Given the description of an element on the screen output the (x, y) to click on. 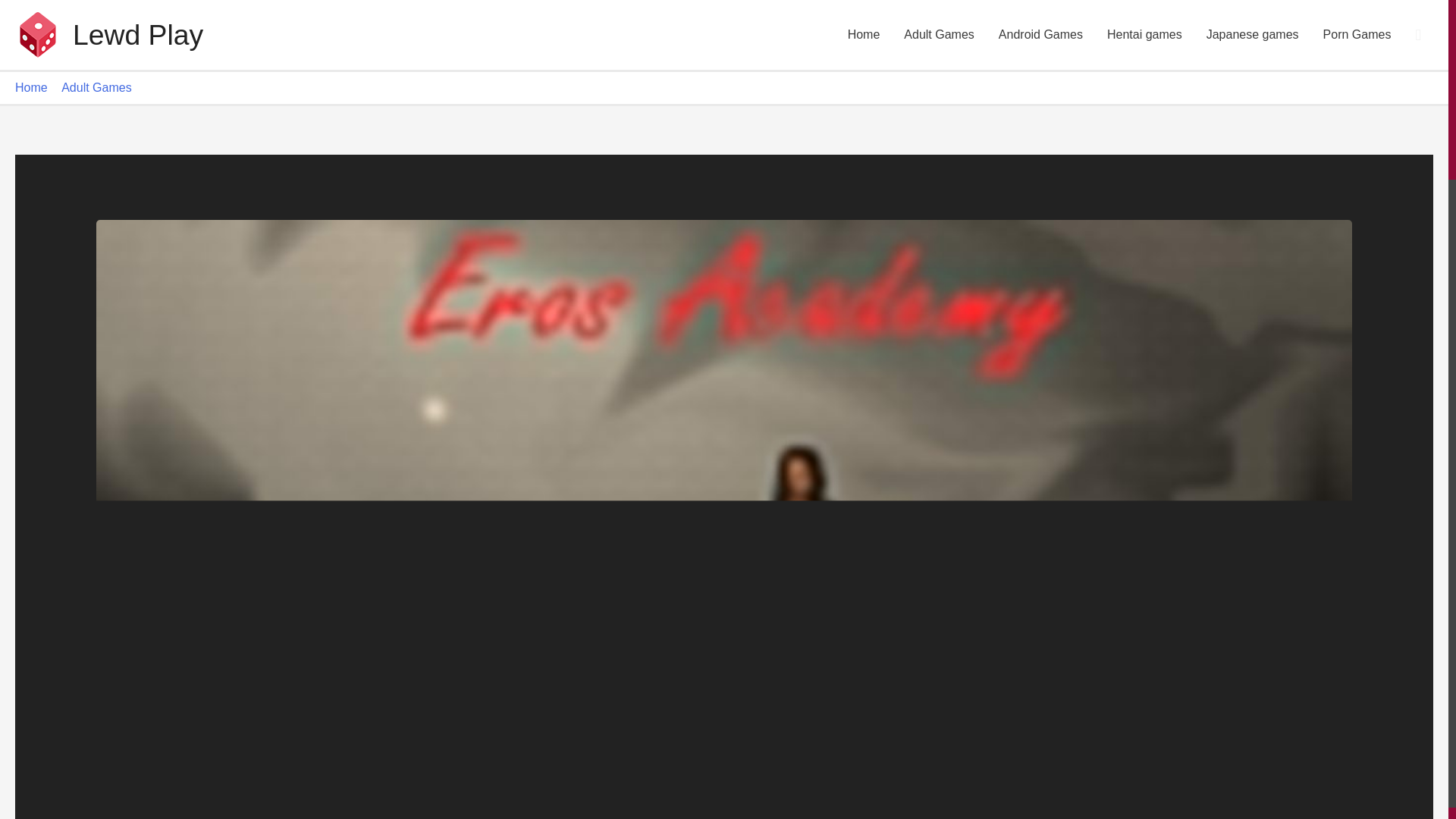
Hentai games (1143, 34)
Home (863, 34)
Lewd Play (137, 34)
Adult Games (938, 34)
Adult Games (96, 87)
Home (31, 87)
Porn Games (1357, 34)
Android Games (1040, 34)
Japanese games (1252, 34)
